Given the description of an element on the screen output the (x, y) to click on. 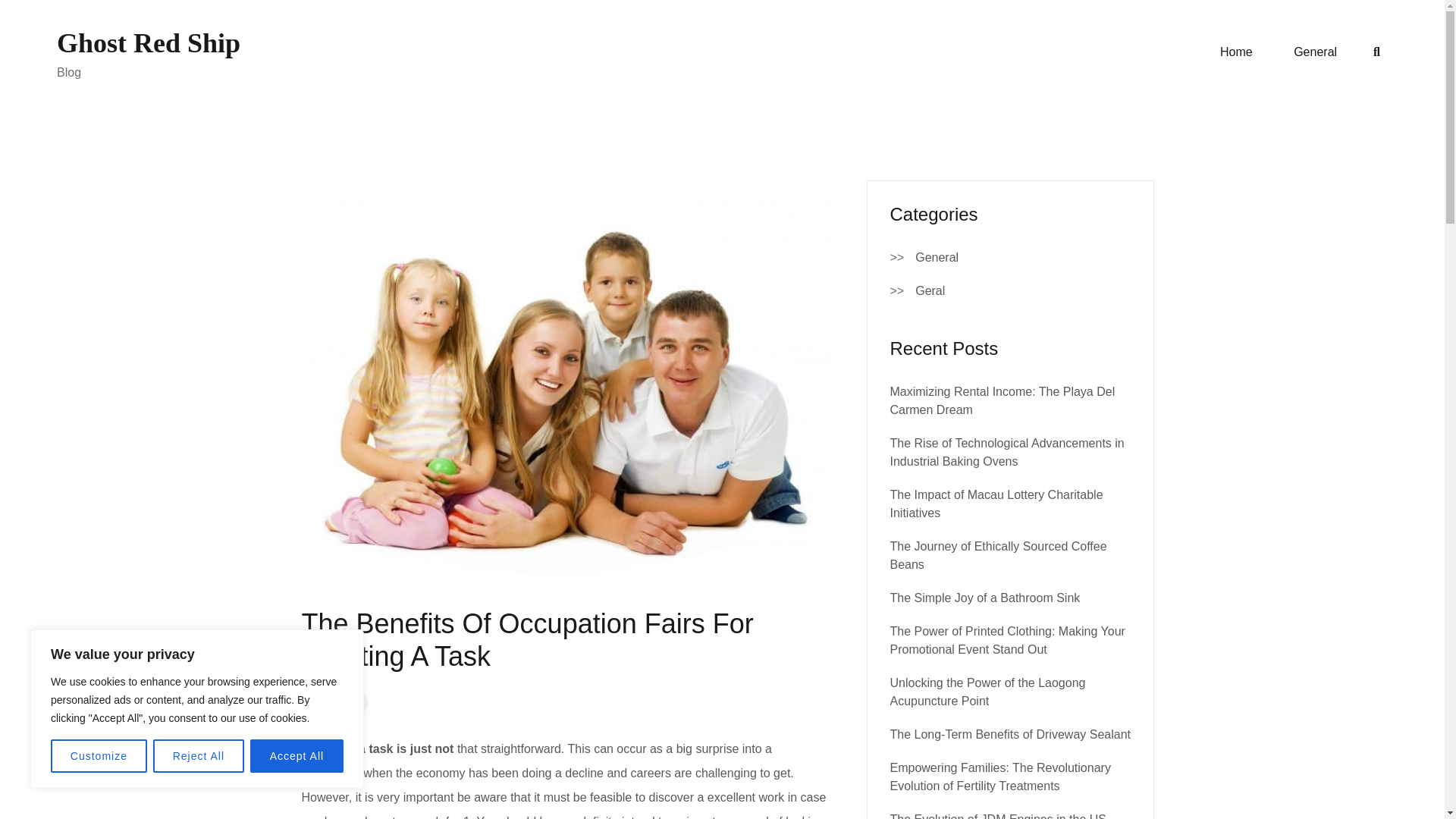
General (1315, 52)
General (936, 257)
Home (1236, 52)
Maximizing Rental Income: The Playa Del Carmen Dream (1002, 400)
Customize (98, 756)
Ghost Red Ship (148, 42)
The Journey of Ethically Sourced Coffee Beans (997, 554)
Accept All (296, 756)
Reject All (198, 756)
GENERAL (334, 702)
